Given the description of an element on the screen output the (x, y) to click on. 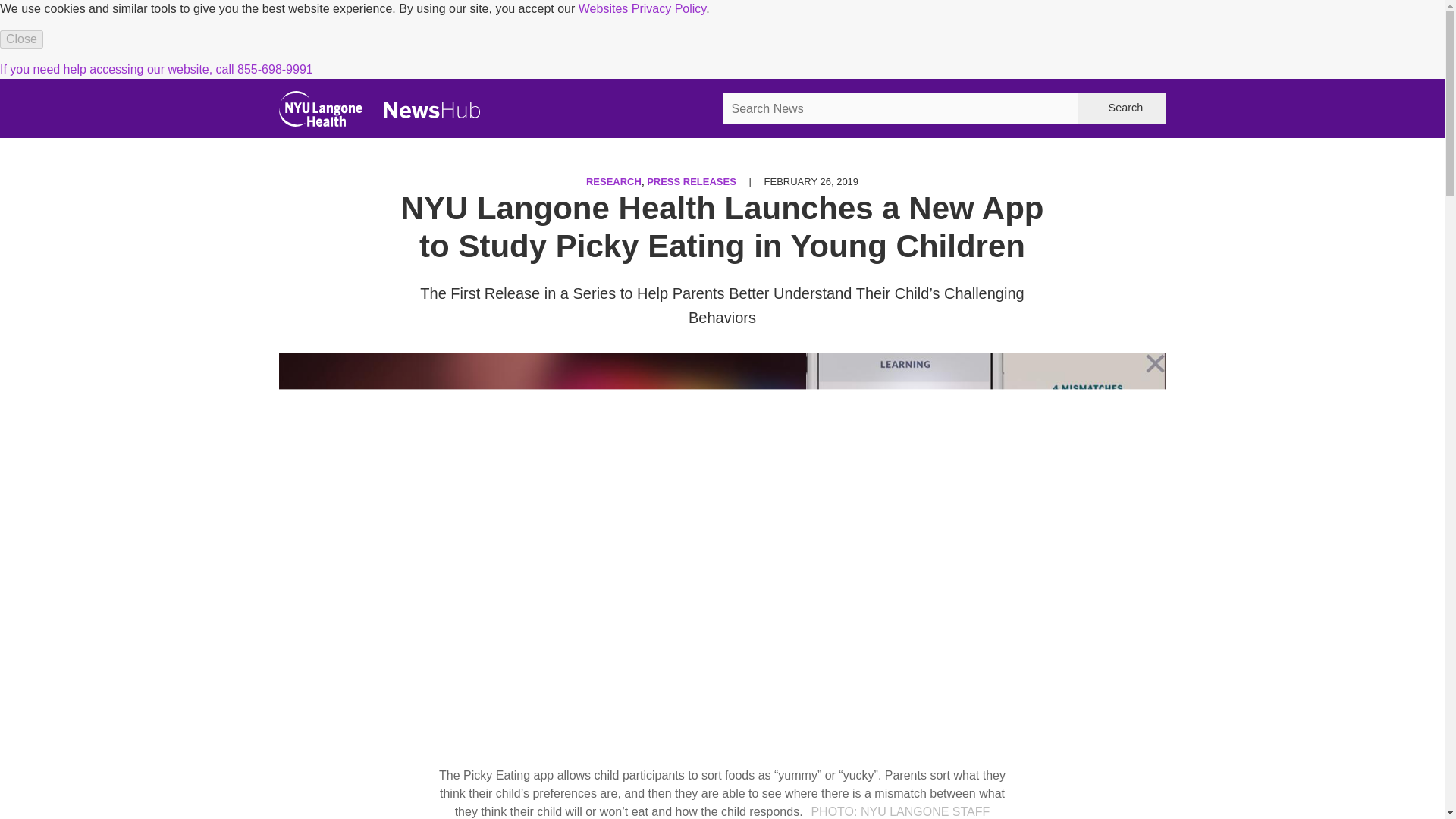
Websites Privacy Policy (642, 8)
Enter the terms you wish to search for. (899, 109)
Close (21, 39)
Search (1121, 109)
RESEARCH (614, 181)
PRESS RELEASES (691, 181)
Search (1121, 109)
If you need help accessing our website, call 855-698-9991 (156, 69)
